Given the description of an element on the screen output the (x, y) to click on. 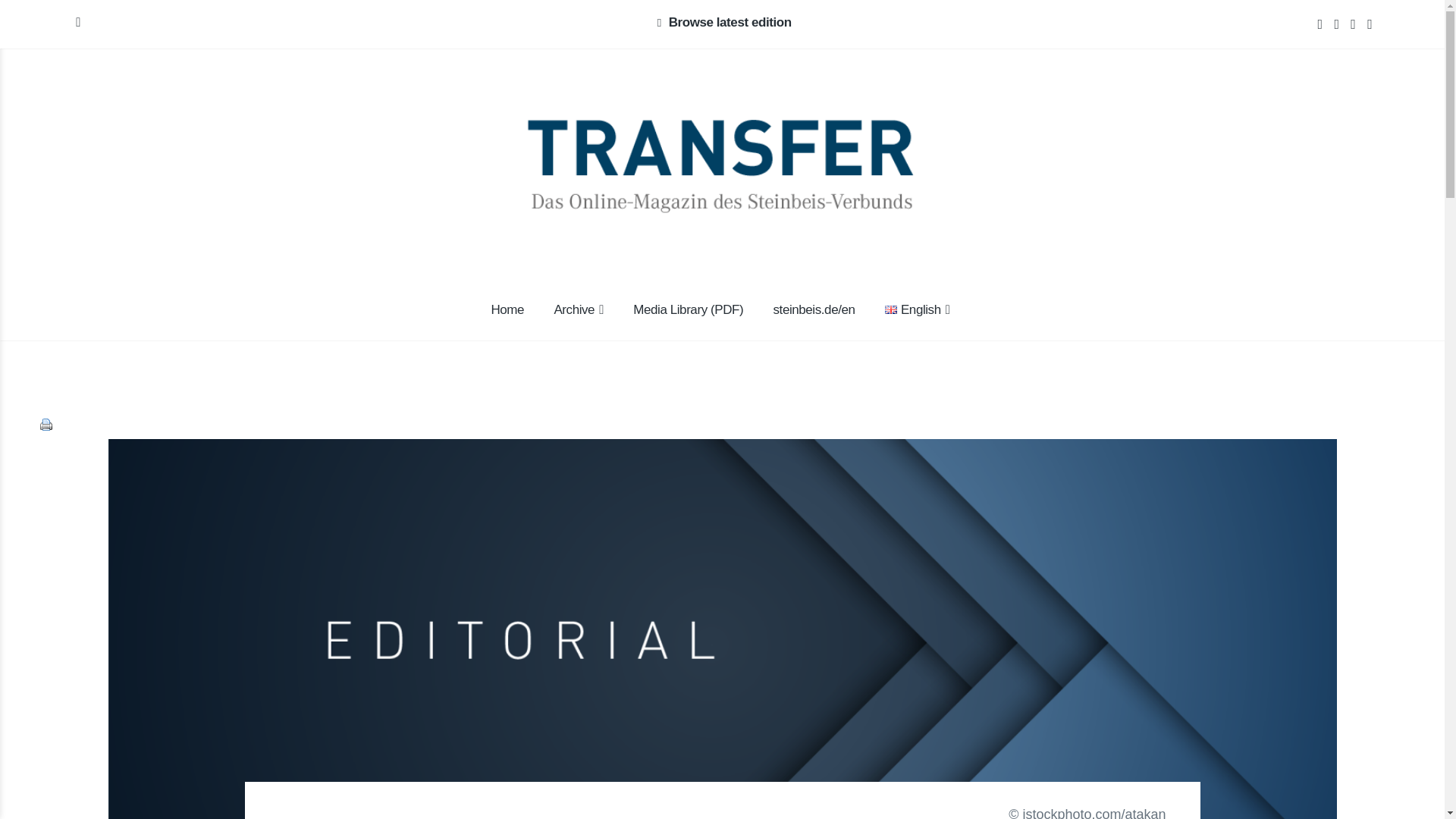
Archive (578, 310)
Home (507, 310)
English (890, 309)
Steinbeis Transfer-Magazin (393, 179)
